Given the description of an element on the screen output the (x, y) to click on. 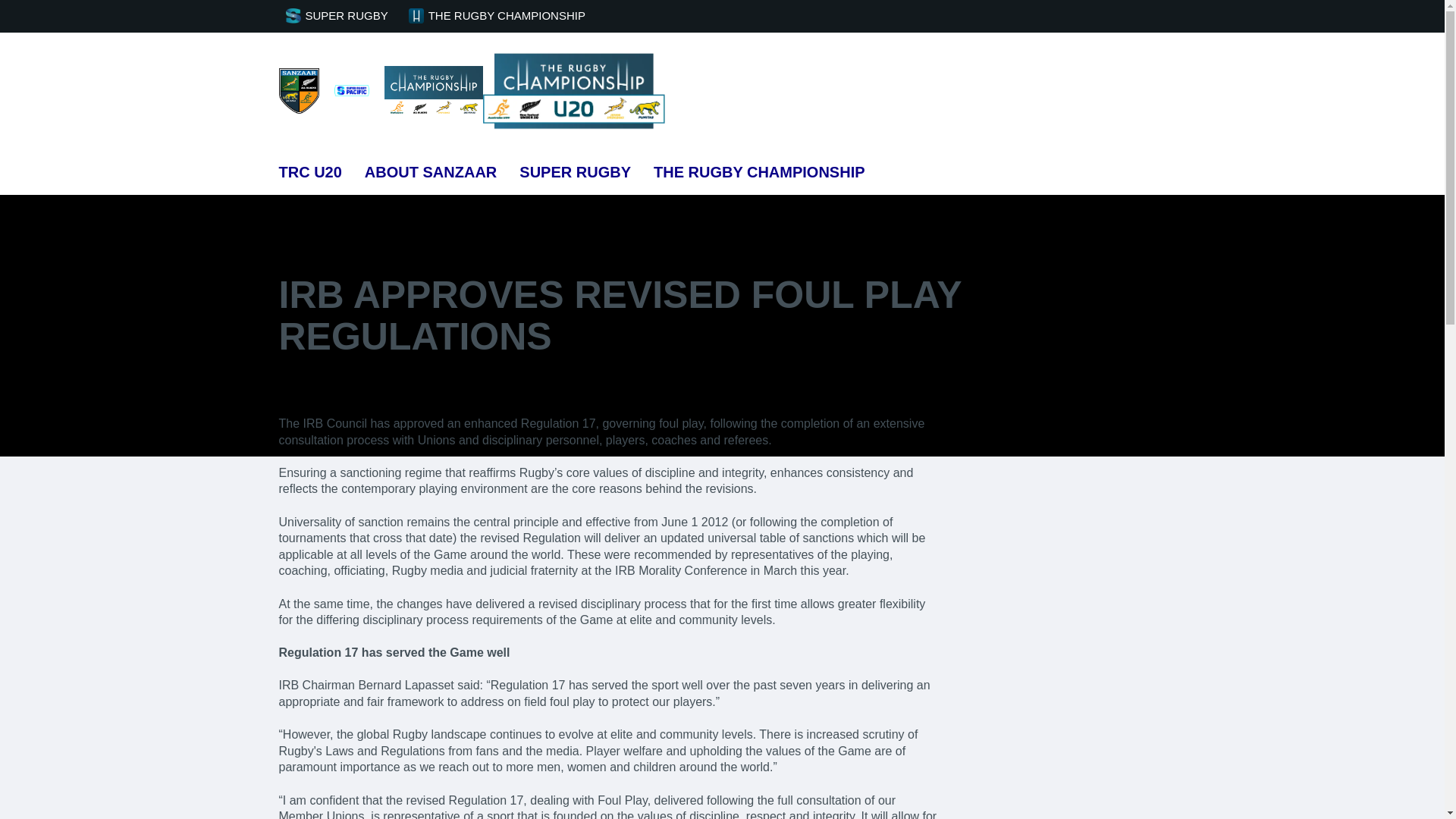
THE RUGBY CHAMPIONSHIP (758, 171)
TRC U20 (310, 171)
THE RUGBY CHAMPIONSHIP (499, 16)
SUPER RUGBY (574, 171)
SUPER RUGBY (340, 16)
ABOUT SANZAAR (430, 171)
